Given the description of an element on the screen output the (x, y) to click on. 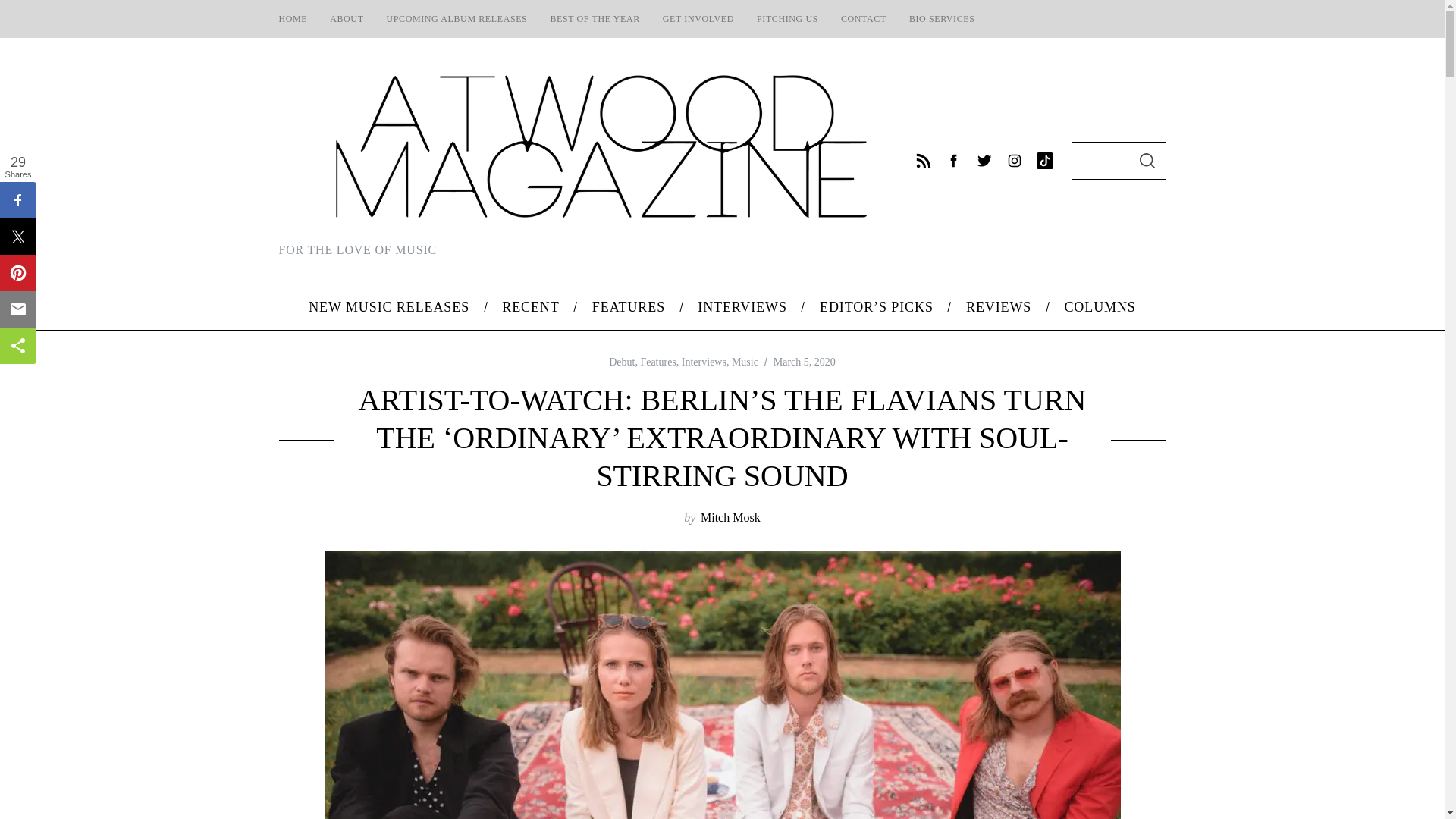
GET INVOLVED (697, 18)
Mitch Mosk (730, 517)
BEST OF THE YEAR (594, 18)
Interviews (703, 361)
HOME (292, 18)
SEARCH (1147, 160)
PITCHING US (787, 18)
UPCOMING ALBUM RELEASES (456, 18)
Debut (621, 361)
COLUMNS (1100, 307)
BIO SERVICES (942, 18)
RECENT (531, 307)
FEATURES (628, 307)
CONTACT (863, 18)
Celebrating the best music of 2023! (594, 18)
